Given the description of an element on the screen output the (x, y) to click on. 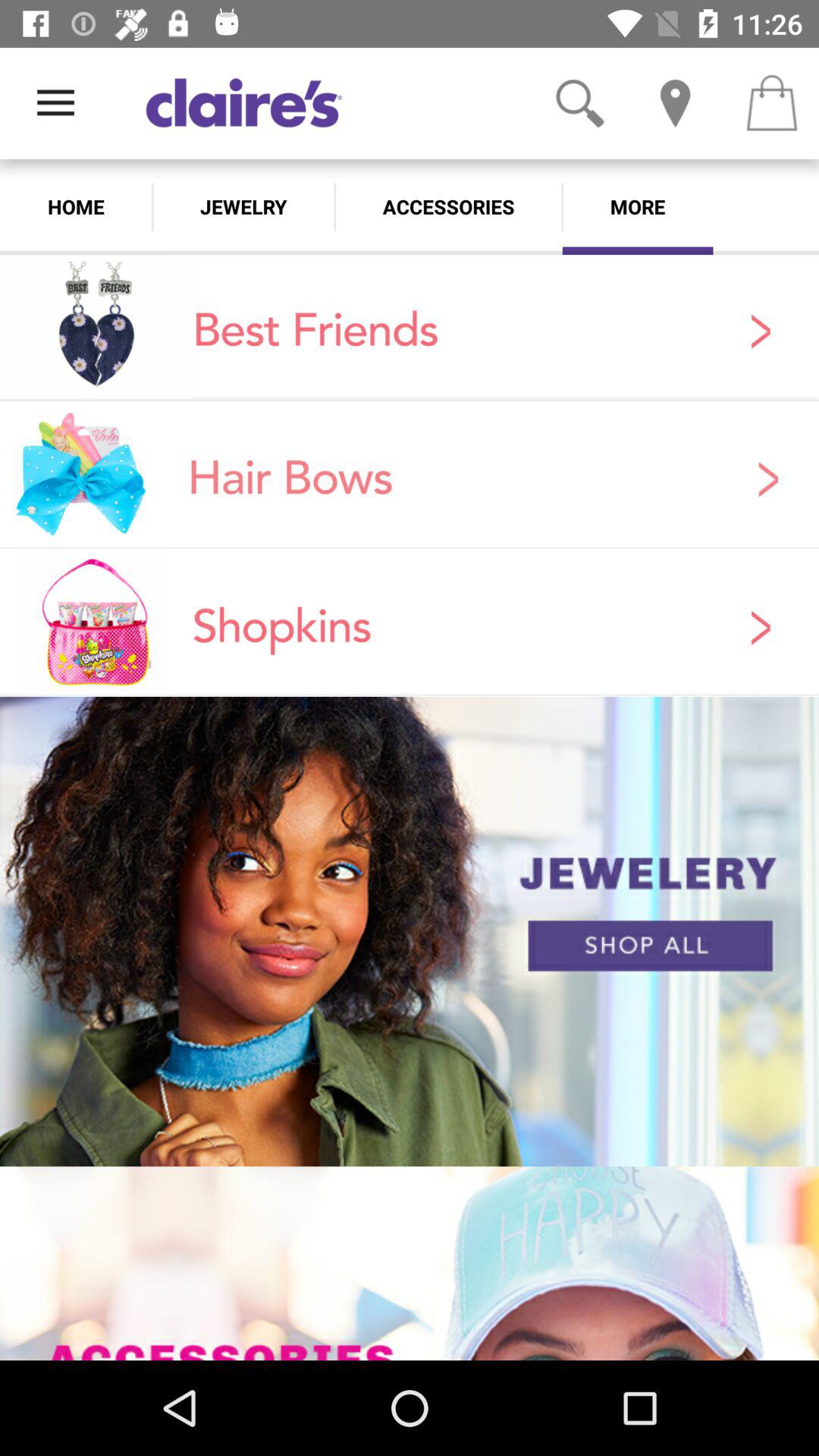
launch the item to the left of the jewelry item (76, 206)
